Given the description of an element on the screen output the (x, y) to click on. 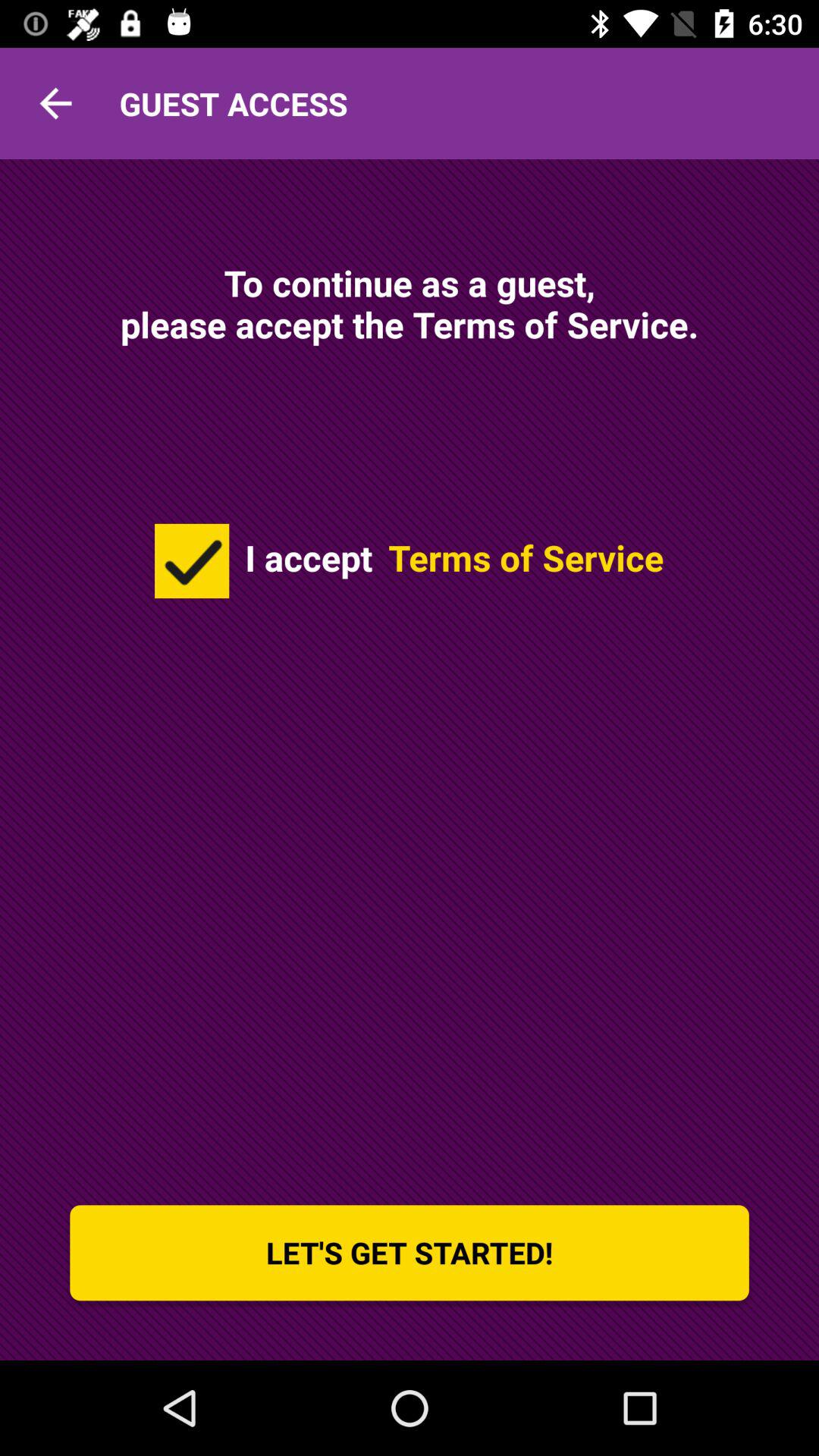
turn off the icon to the left of the guest access app (55, 103)
